Given the description of an element on the screen output the (x, y) to click on. 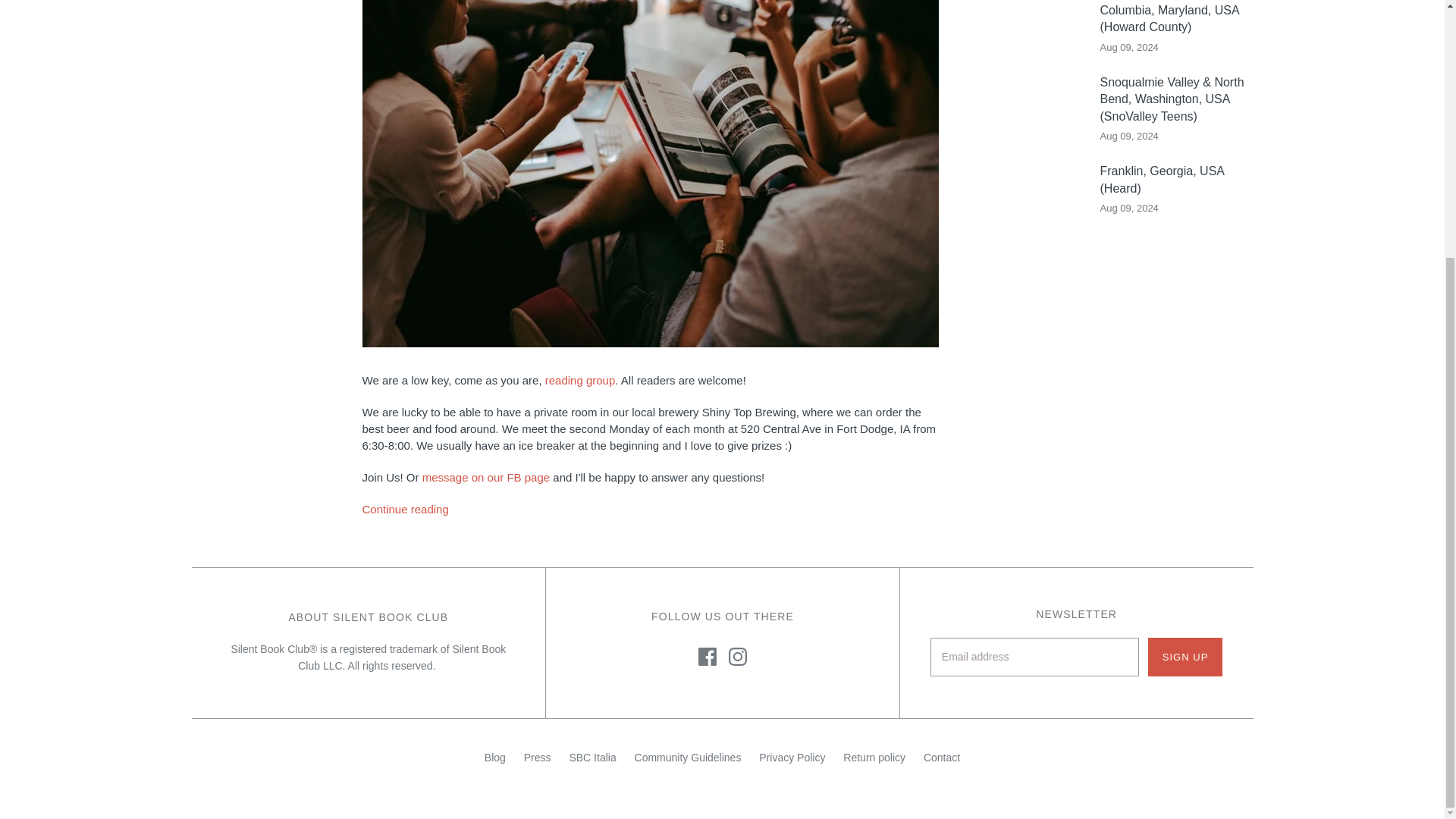
message on our FB page (486, 477)
Facebook Icon (707, 656)
Instagram Icon (737, 656)
Instagram Icon (737, 656)
Sign up (1185, 657)
Continue reading (650, 509)
reading group (579, 379)
Facebook Icon (707, 656)
